Given the description of an element on the screen output the (x, y) to click on. 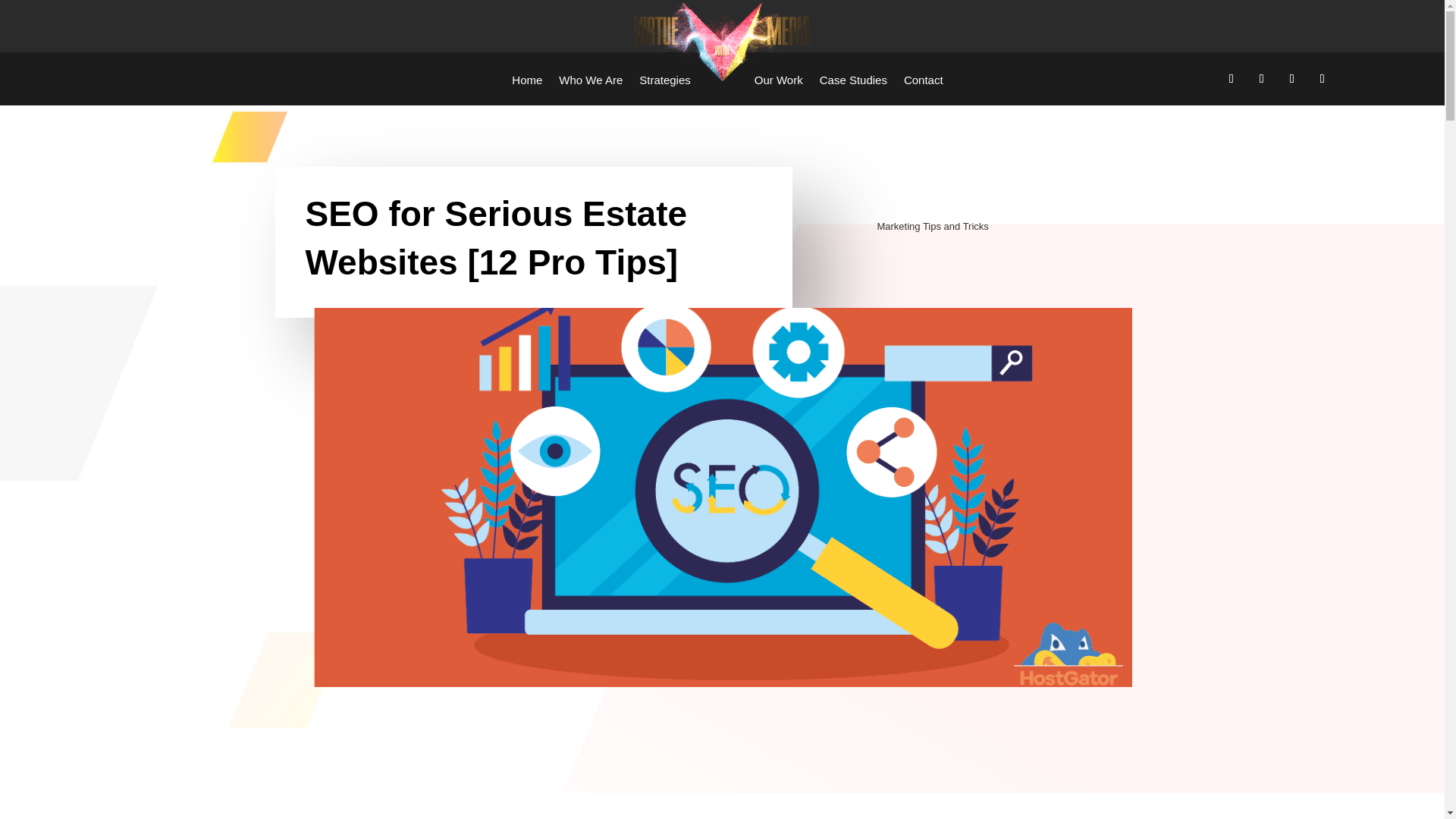
Follow on Youtube (1322, 78)
Follow on Facebook (1231, 78)
Case Studies (852, 79)
Follow on Instagram (1291, 78)
Follow on X (1261, 78)
Marketing Tips and Tricks (932, 225)
Who We Are (591, 79)
